Given the description of an element on the screen output the (x, y) to click on. 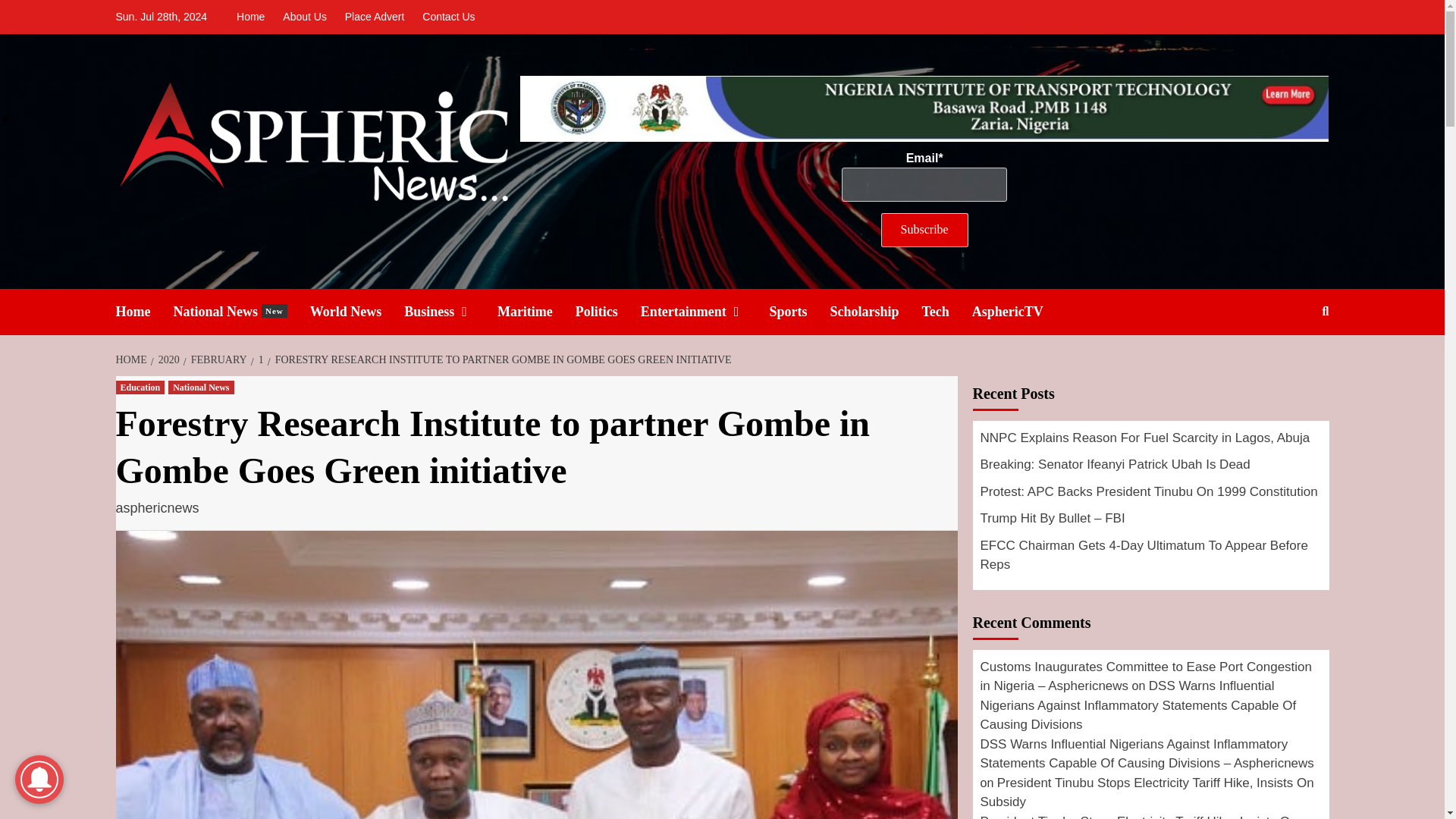
Sports (798, 311)
Education (139, 386)
Maritime (536, 311)
Scholarship (875, 311)
asphericnews (156, 507)
1 (258, 359)
Home (144, 311)
AsphericTV (1018, 311)
Entertainment (705, 311)
Subscribe (924, 229)
Business (450, 311)
Home (240, 311)
About Us (253, 17)
National News (304, 17)
